Given the description of an element on the screen output the (x, y) to click on. 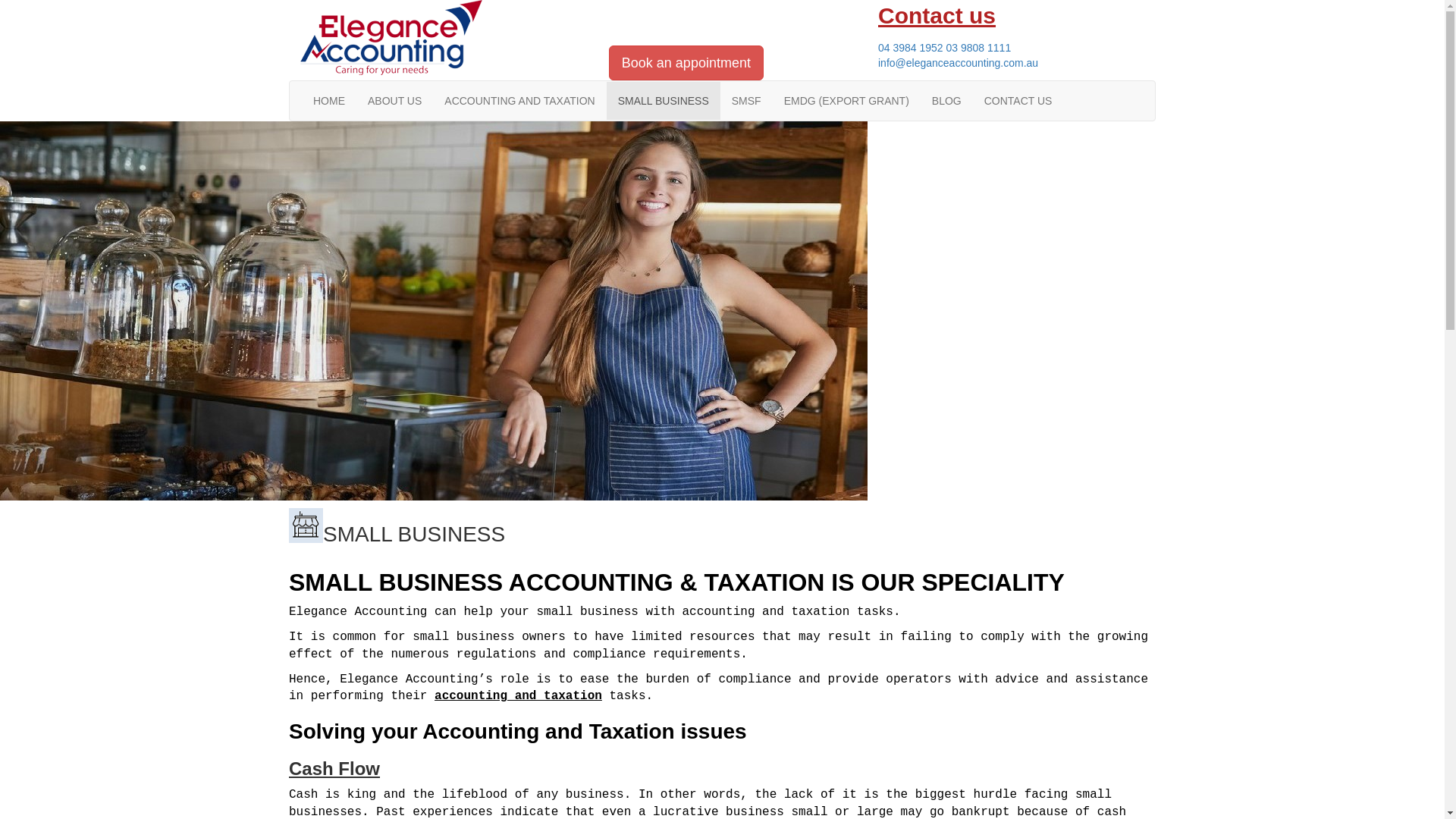
SMSF Element type: text (746, 100)
CONTACT US Element type: text (1017, 100)
Book an appointment Element type: text (685, 62)
EMDG (EXPORT GRANT) Element type: text (846, 100)
BLOG Element type: text (946, 100)
Contact us Element type: text (1011, 26)
accounting and taxation Element type: text (518, 695)
ACCOUNTING AND TAXATION Element type: text (519, 100)
Book an appointment Element type: text (685, 62)
info@eleganceaccounting.com.au Element type: text (958, 62)
04 3984 1952 Element type: text (910, 47)
ABOUT US Element type: text (394, 100)
03 9808 1111 Element type: text (978, 47)
SMALL BUSINESS Element type: text (663, 100)
HOME Element type: text (328, 100)
